Given the description of an element on the screen output the (x, y) to click on. 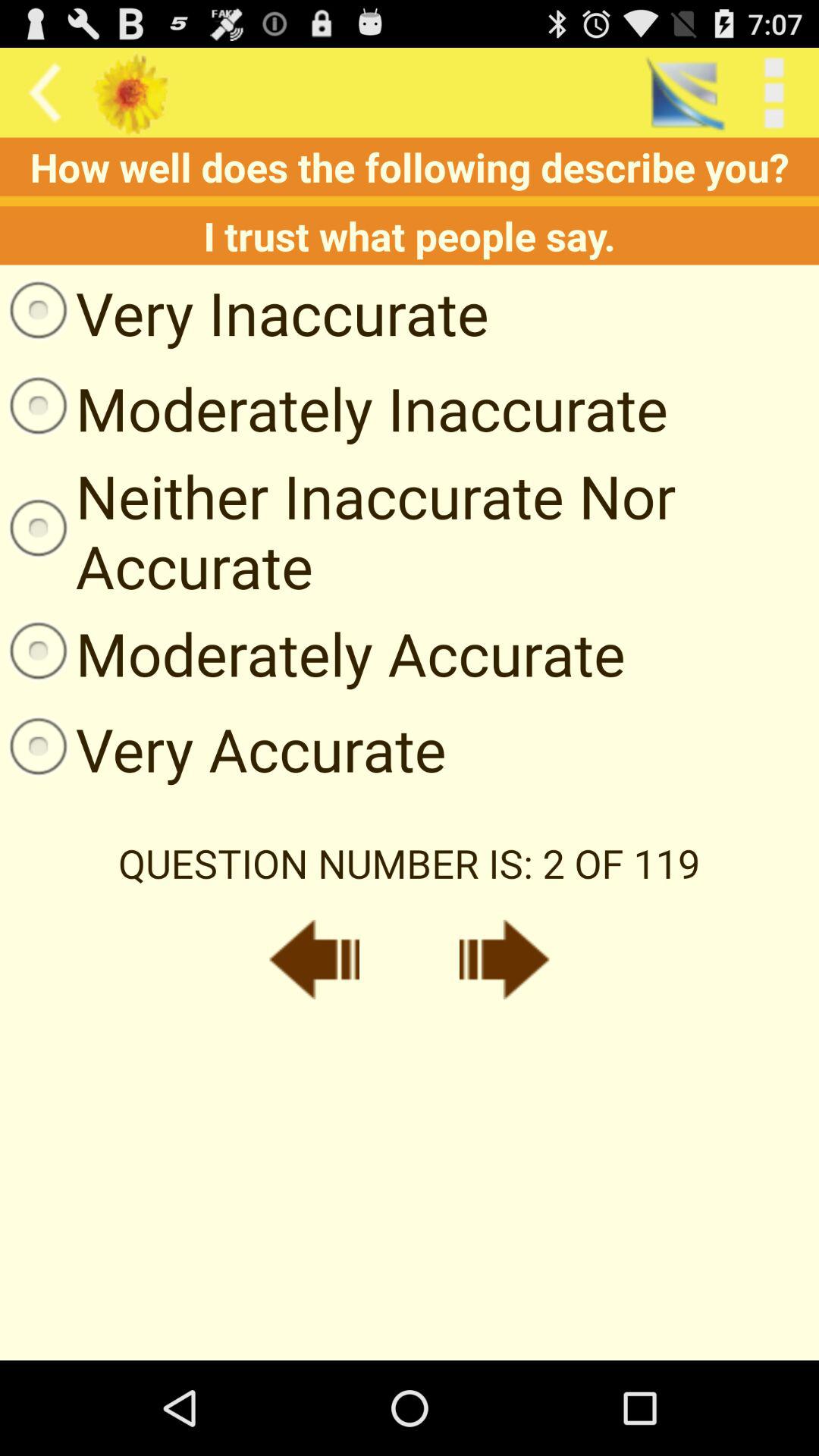
tap item below the neither inaccurate nor icon (312, 653)
